Given the description of an element on the screen output the (x, y) to click on. 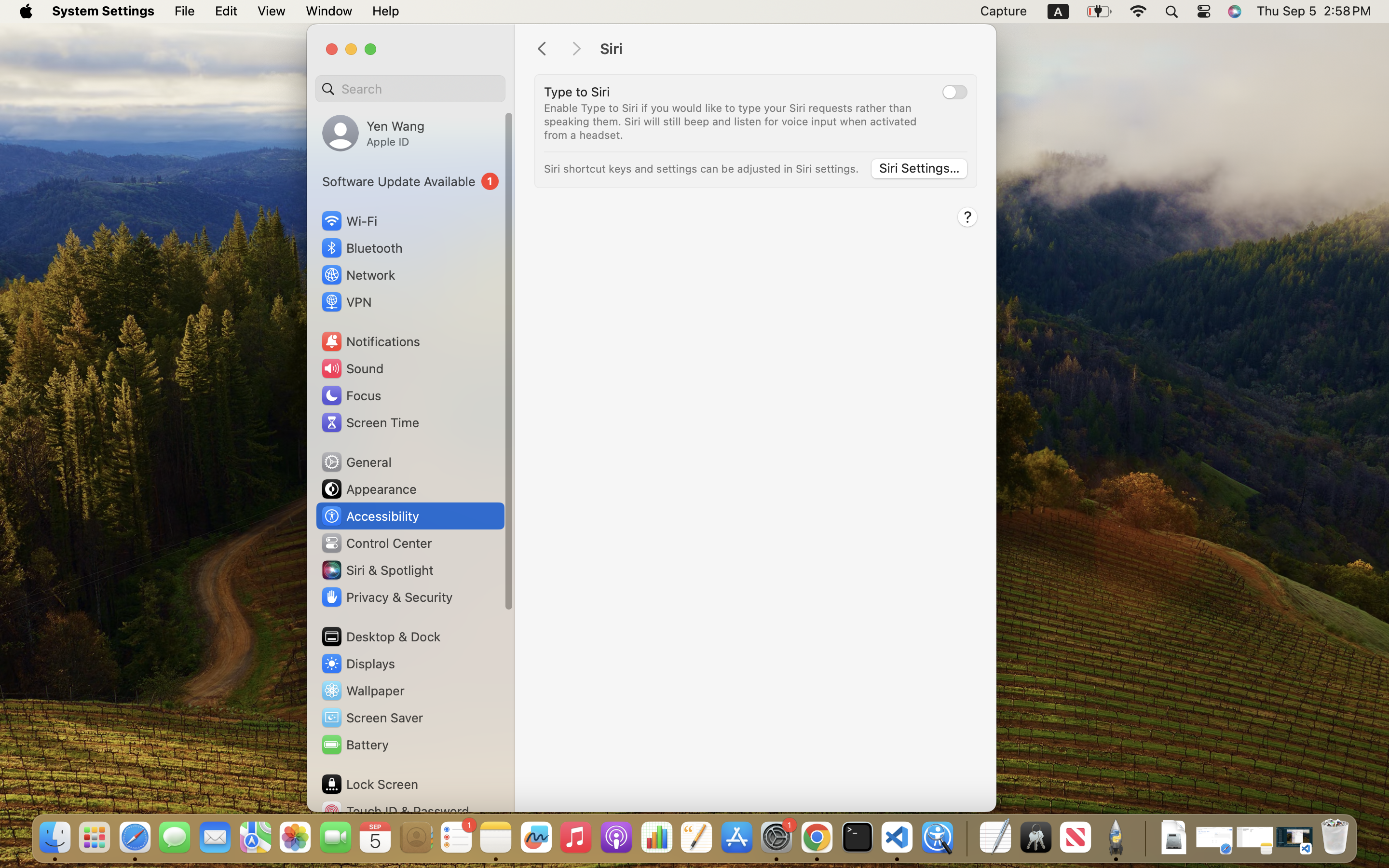
Accessibility Element type: AXStaticText (369, 515)
VPN Element type: AXStaticText (345, 301)
Sound Element type: AXStaticText (351, 367)
Battery Element type: AXStaticText (354, 744)
Siri shortcut keys and settings can be adjusted in Siri settings. Element type: AXStaticText (701, 168)
